Given the description of an element on the screen output the (x, y) to click on. 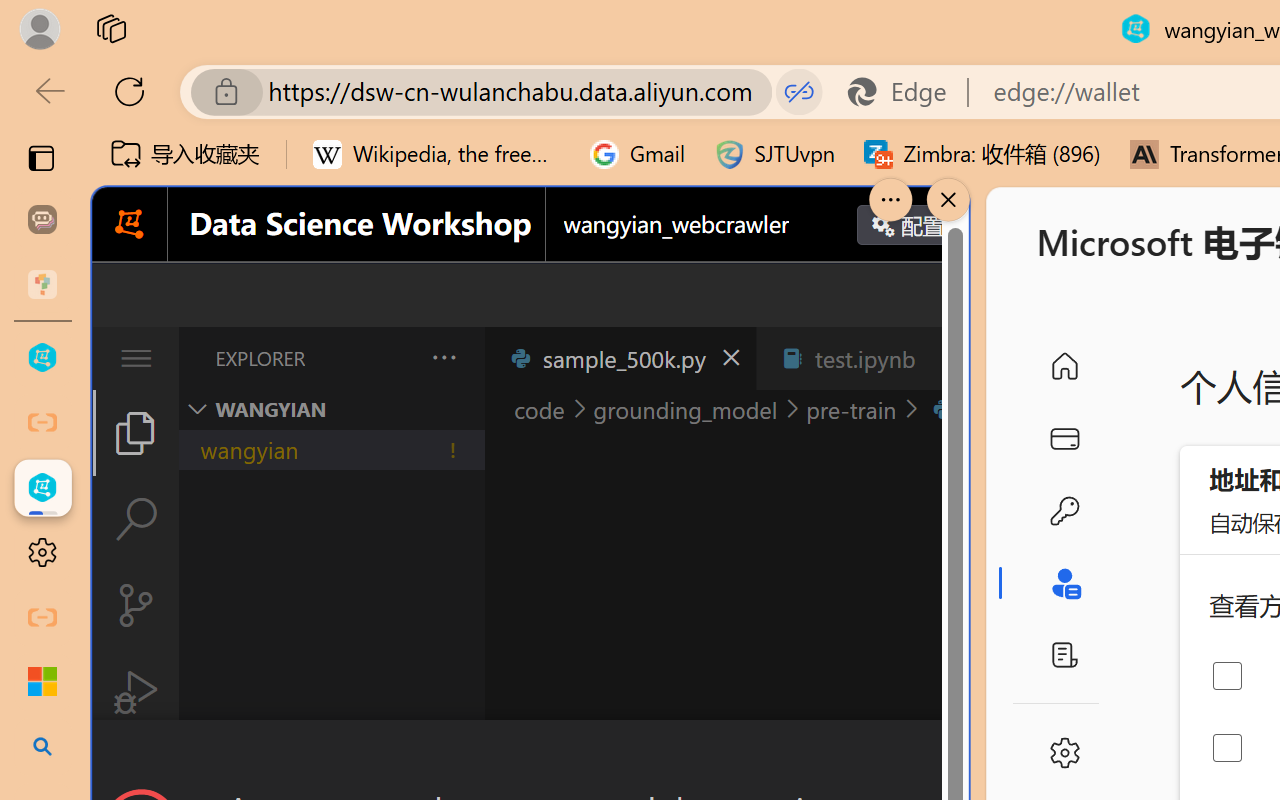
Tab actions (945, 358)
test.ipynb (864, 358)
Search (Ctrl+Shift+F) (135, 519)
Run and Debug (Ctrl+Shift+D) (135, 692)
wangyian_dsw - DSW (42, 357)
Source Control (Ctrl+Shift+G) (135, 604)
